Given the description of an element on the screen output the (x, y) to click on. 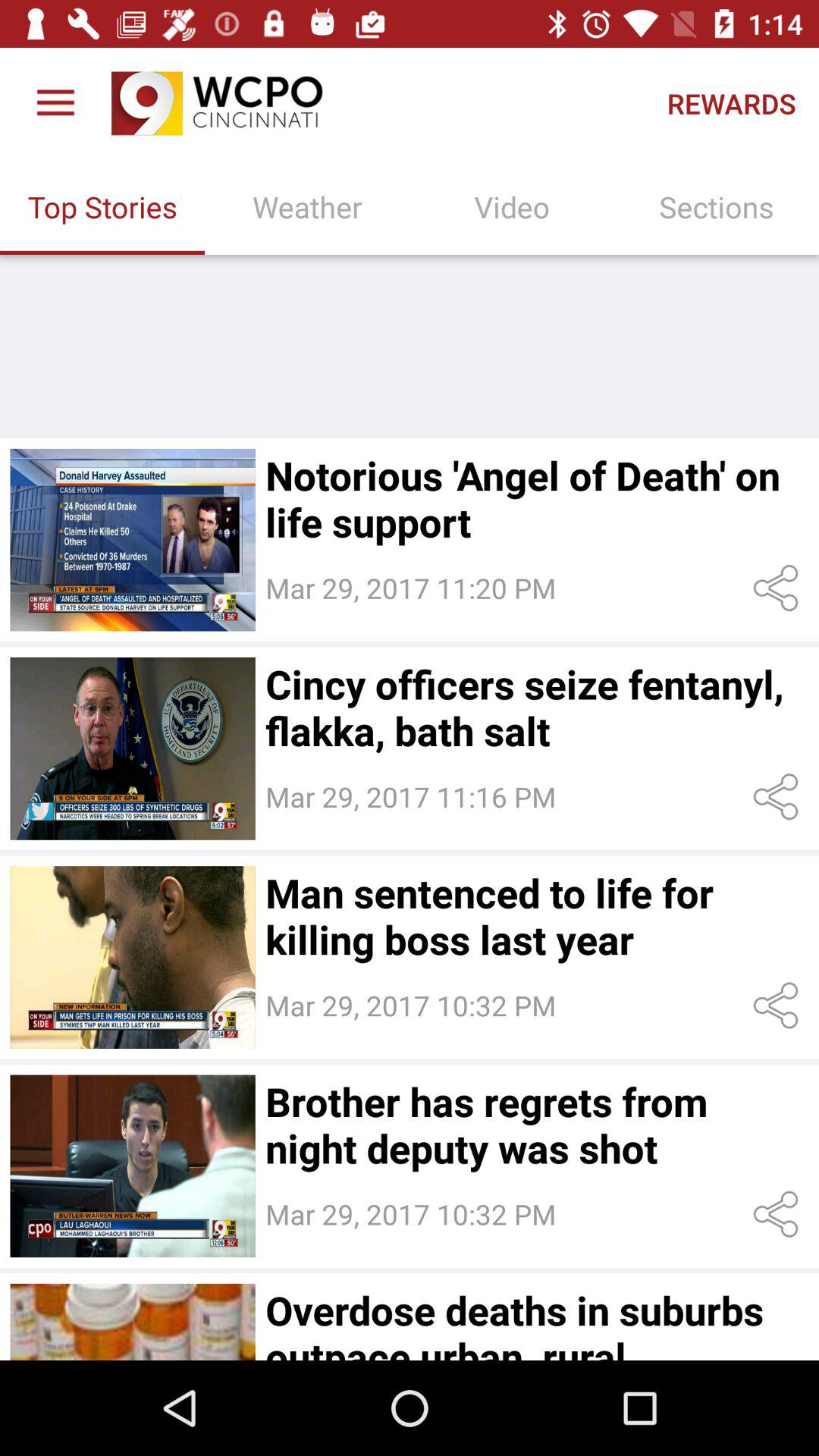
share (778, 588)
